Given the description of an element on the screen output the (x, y) to click on. 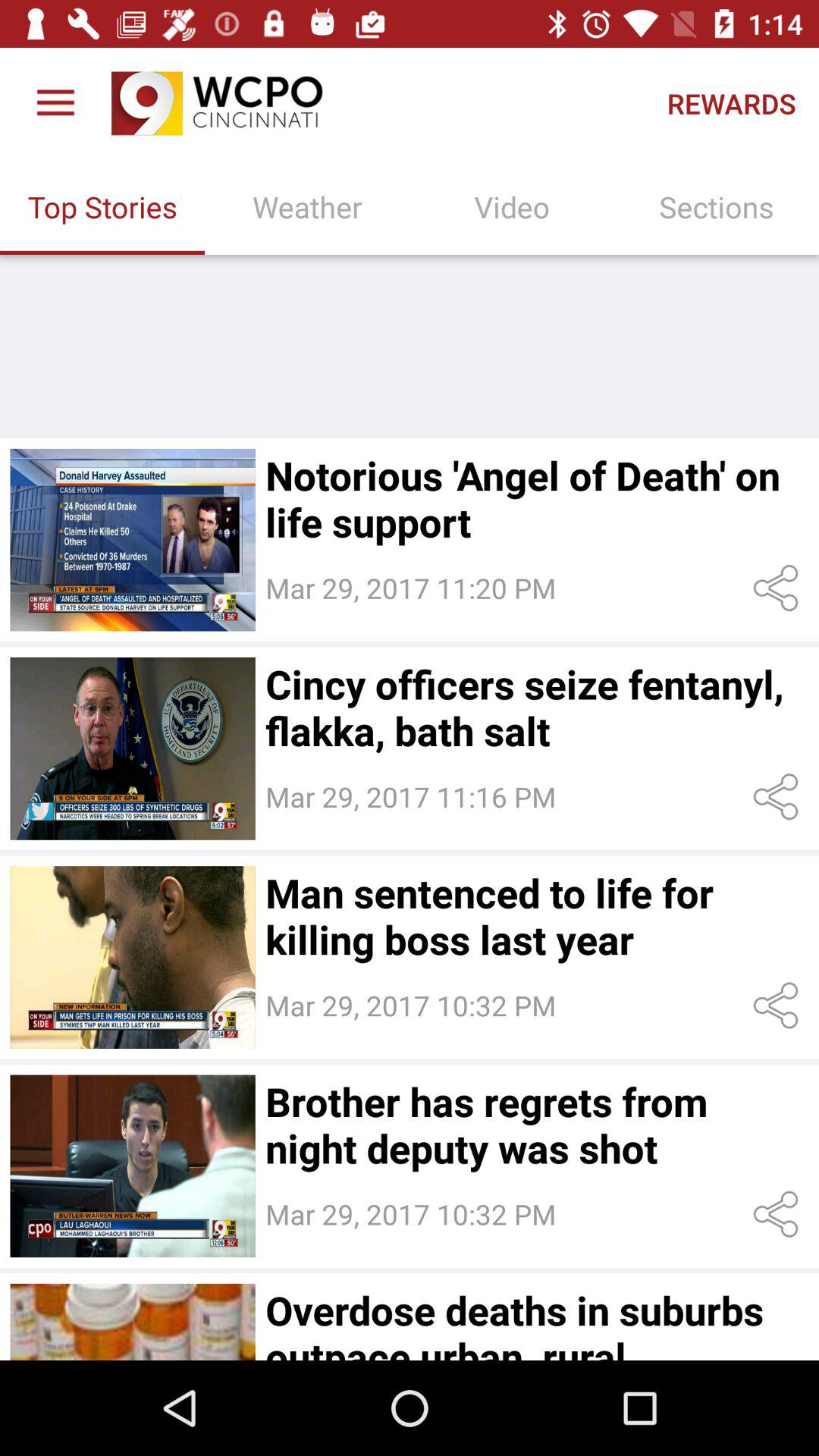
share (778, 588)
